Given the description of an element on the screen output the (x, y) to click on. 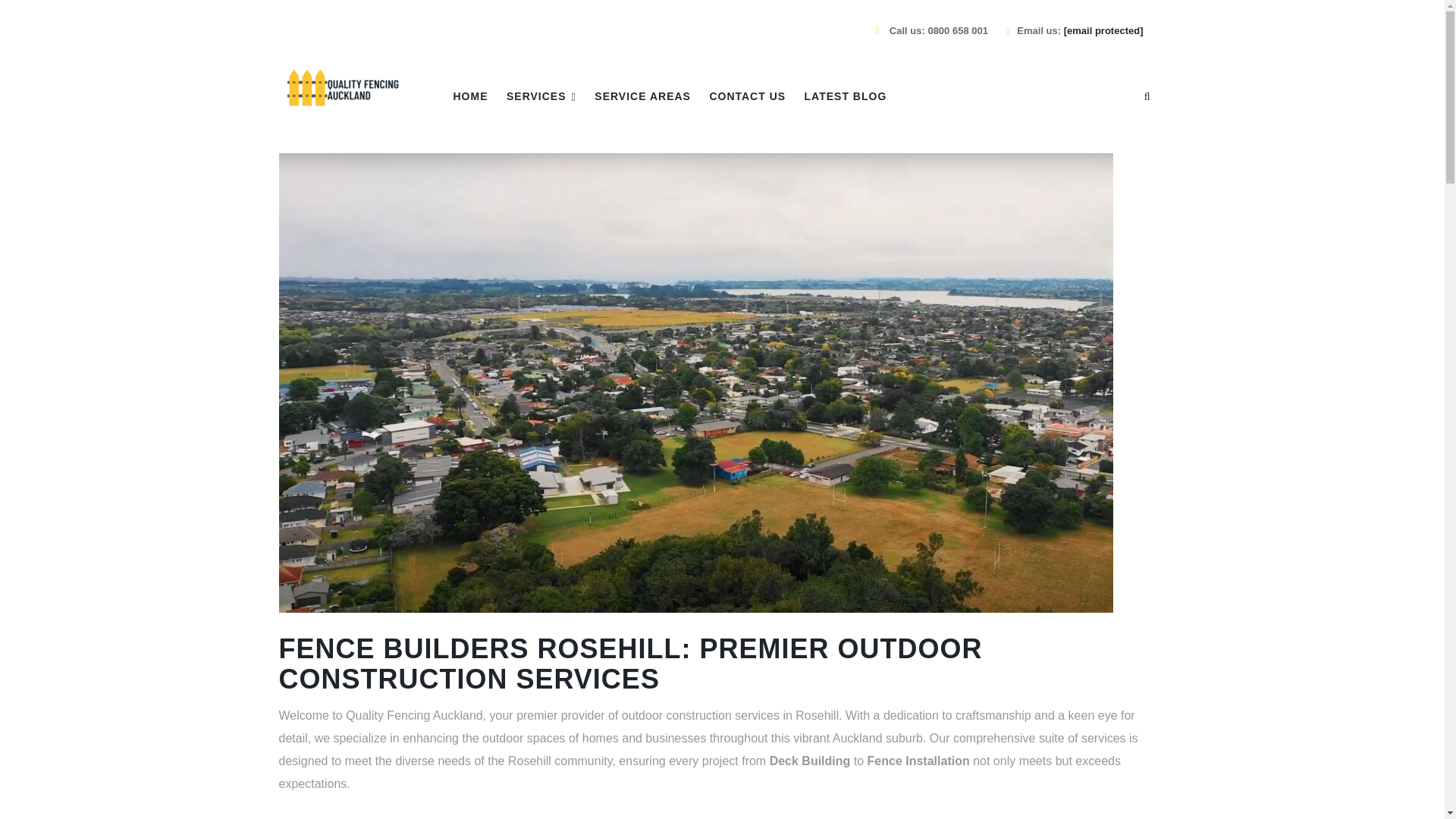
HOME (469, 95)
LATEST BLOG (845, 95)
SERVICE AREAS (642, 95)
CONTACT US (747, 95)
SERVICES (541, 96)
